Given the description of an element on the screen output the (x, y) to click on. 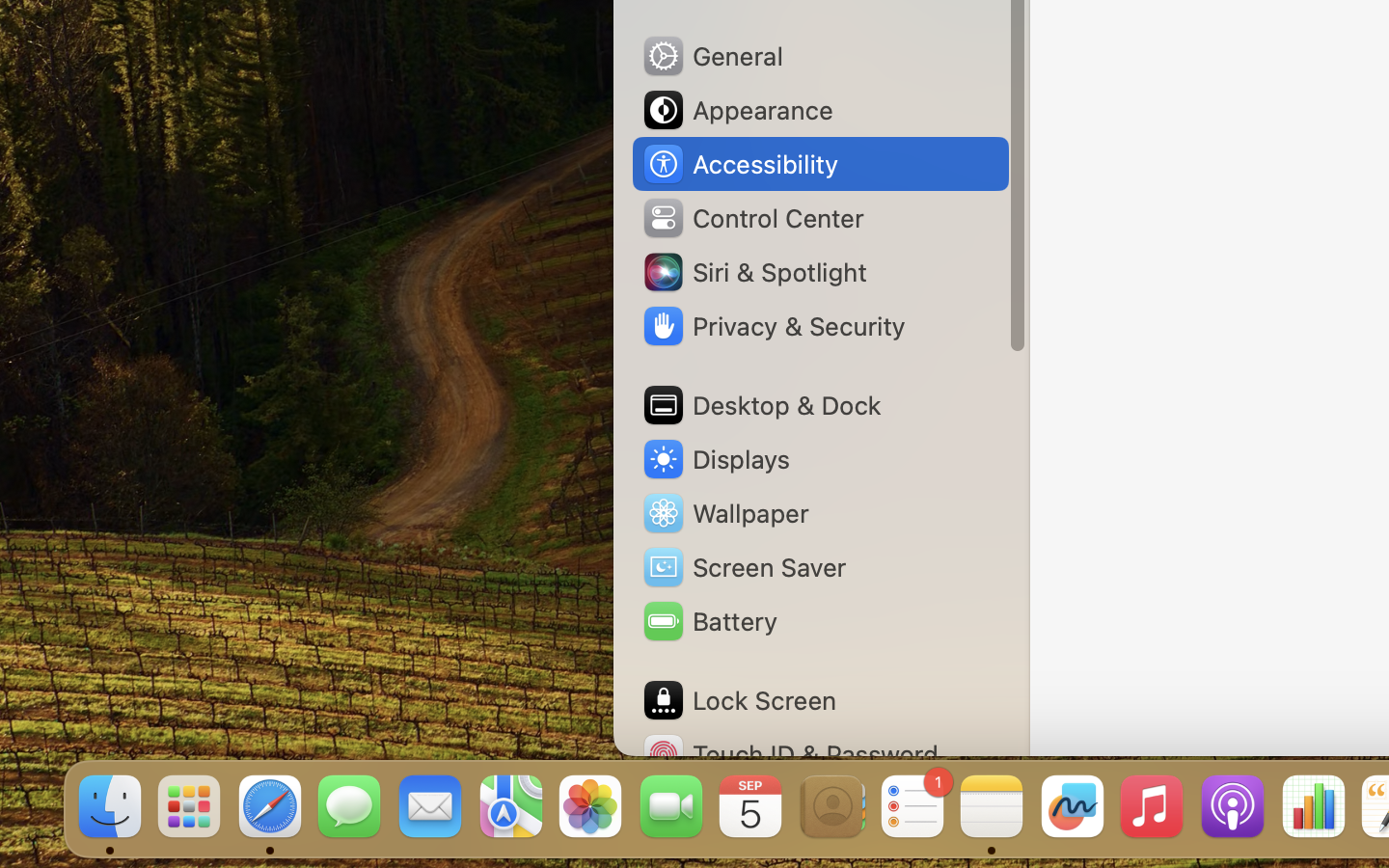
Control Center Element type: AXStaticText (752, 217)
Wallpaper Element type: AXStaticText (724, 512)
Accessibility Element type: AXStaticText (739, 163)
Desktop & Dock Element type: AXStaticText (760, 404)
Displays Element type: AXStaticText (715, 458)
